Given the description of an element on the screen output the (x, y) to click on. 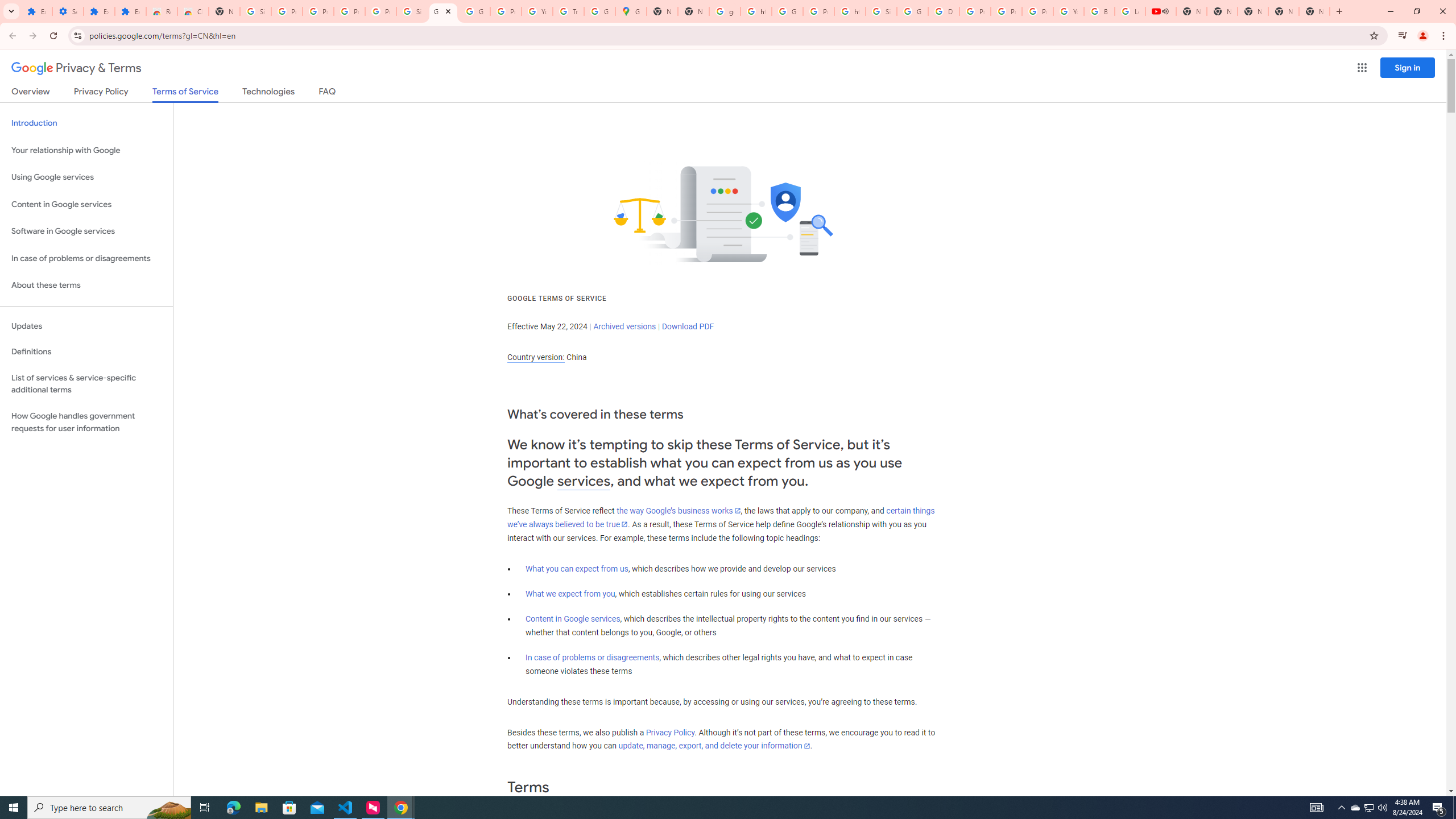
Extensions (98, 11)
https://scholar.google.com/ (756, 11)
Control your music, videos, and more (1402, 35)
FAQ (327, 93)
